Given the description of an element on the screen output the (x, y) to click on. 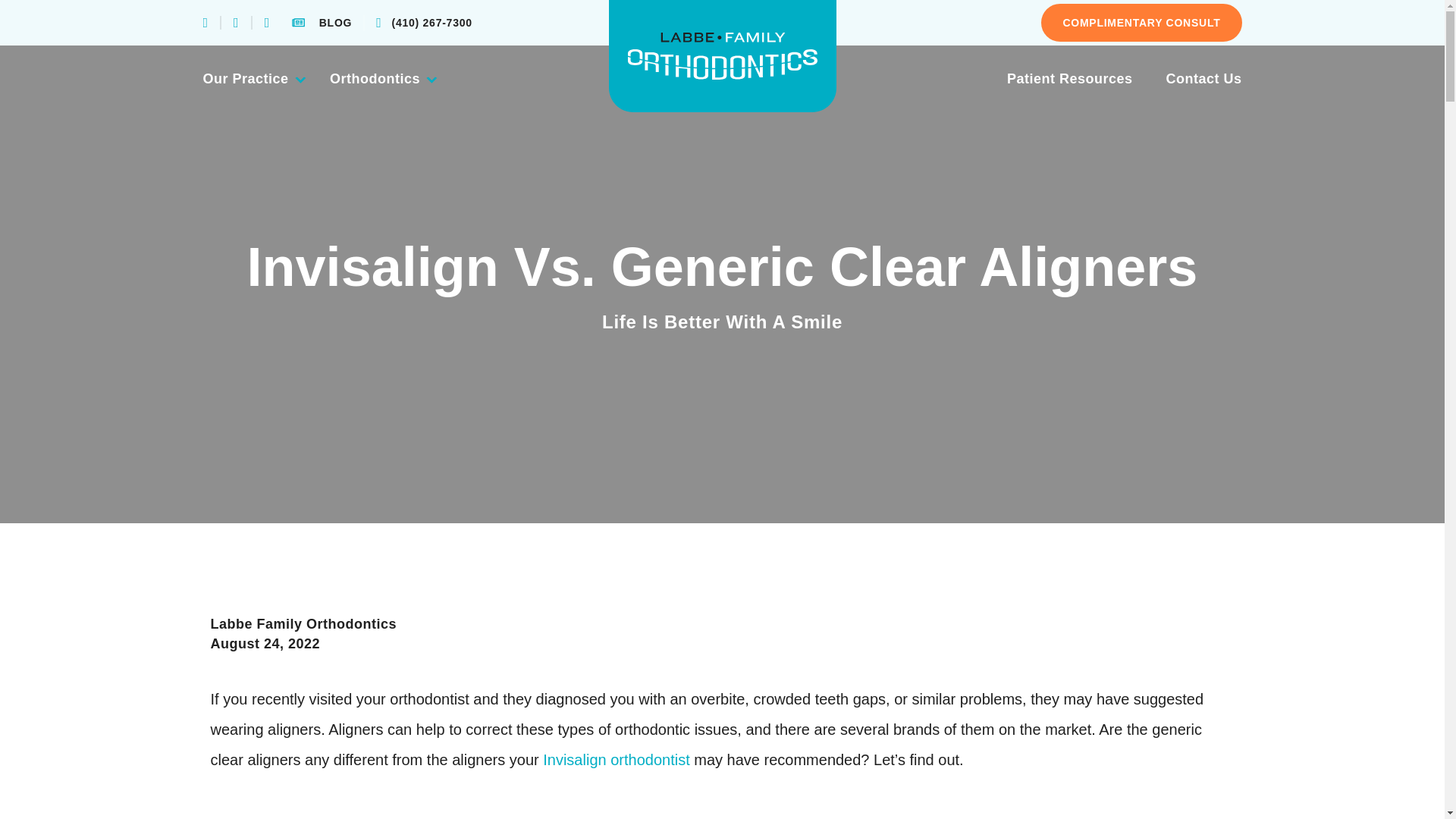
Orthodontics (384, 78)
COMPLIMENTARY CONSULT (1141, 22)
Our Practice (266, 78)
BLOG (322, 22)
